Given the description of an element on the screen output the (x, y) to click on. 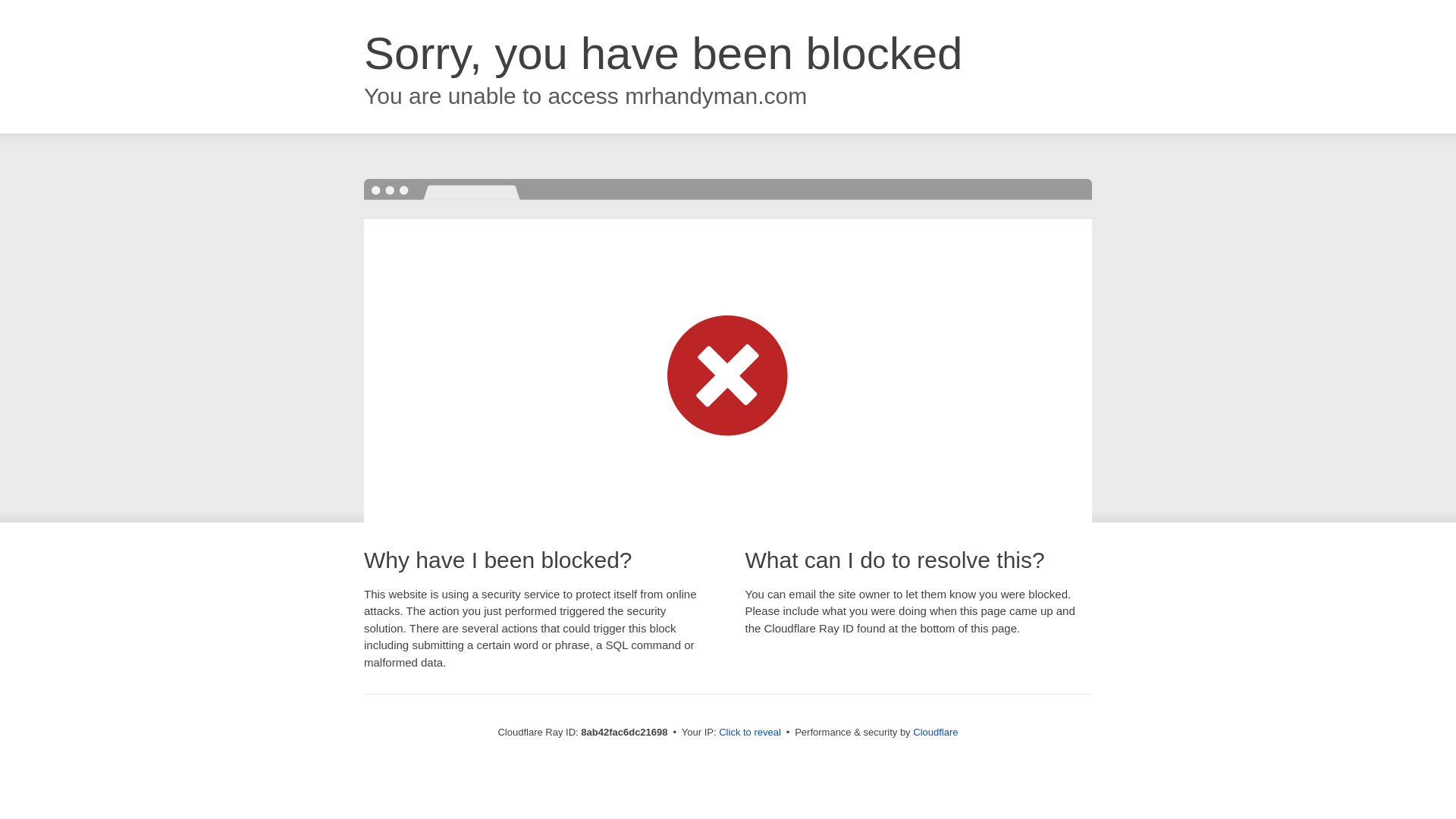
Cloudflare (935, 731)
Click to reveal (749, 732)
